Given the description of an element on the screen output the (x, y) to click on. 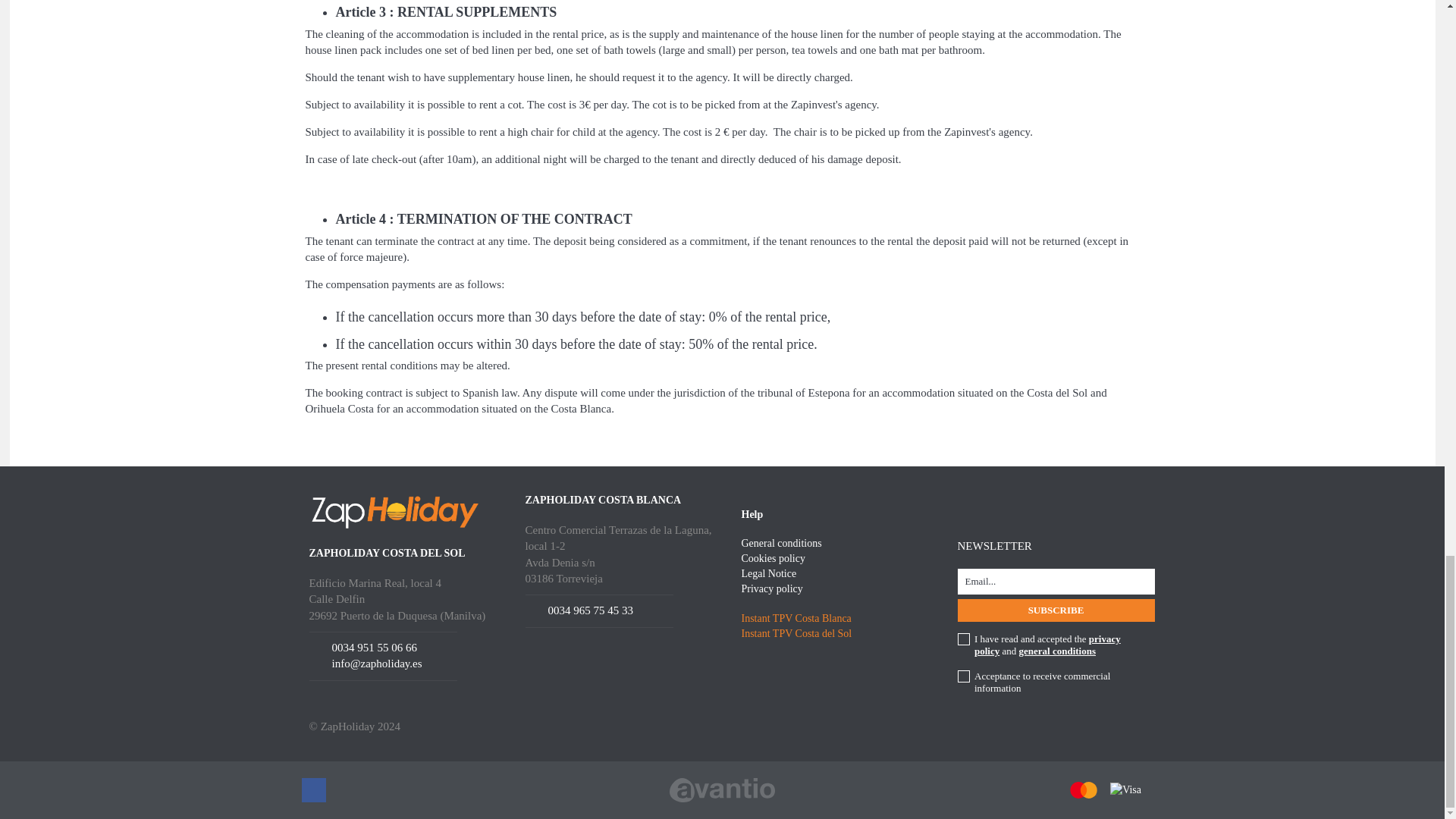
Subscribe (1055, 610)
